Given the description of an element on the screen output the (x, y) to click on. 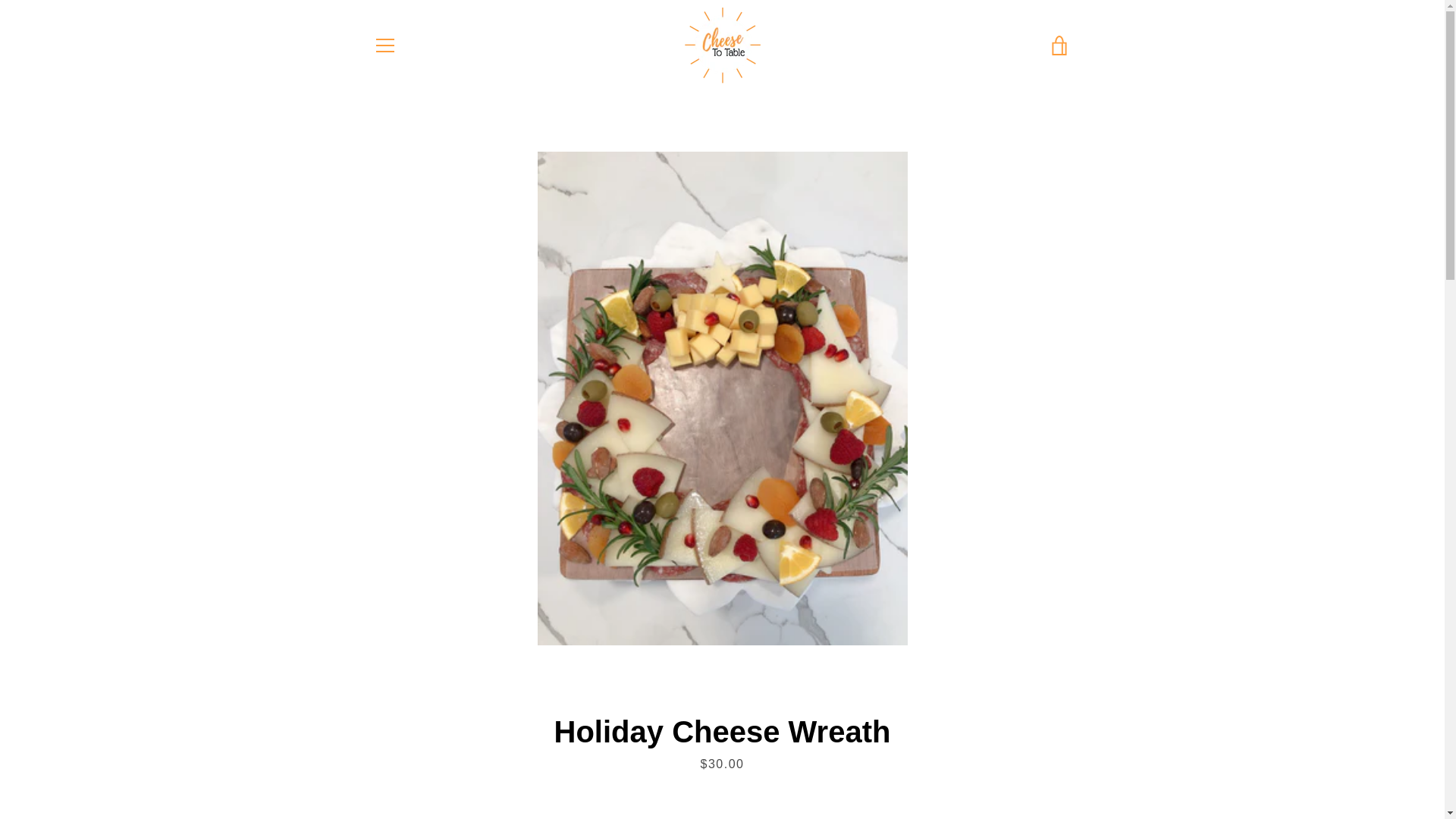
MENU (384, 45)
VIEW CART (1059, 45)
